Given the description of an element on the screen output the (x, y) to click on. 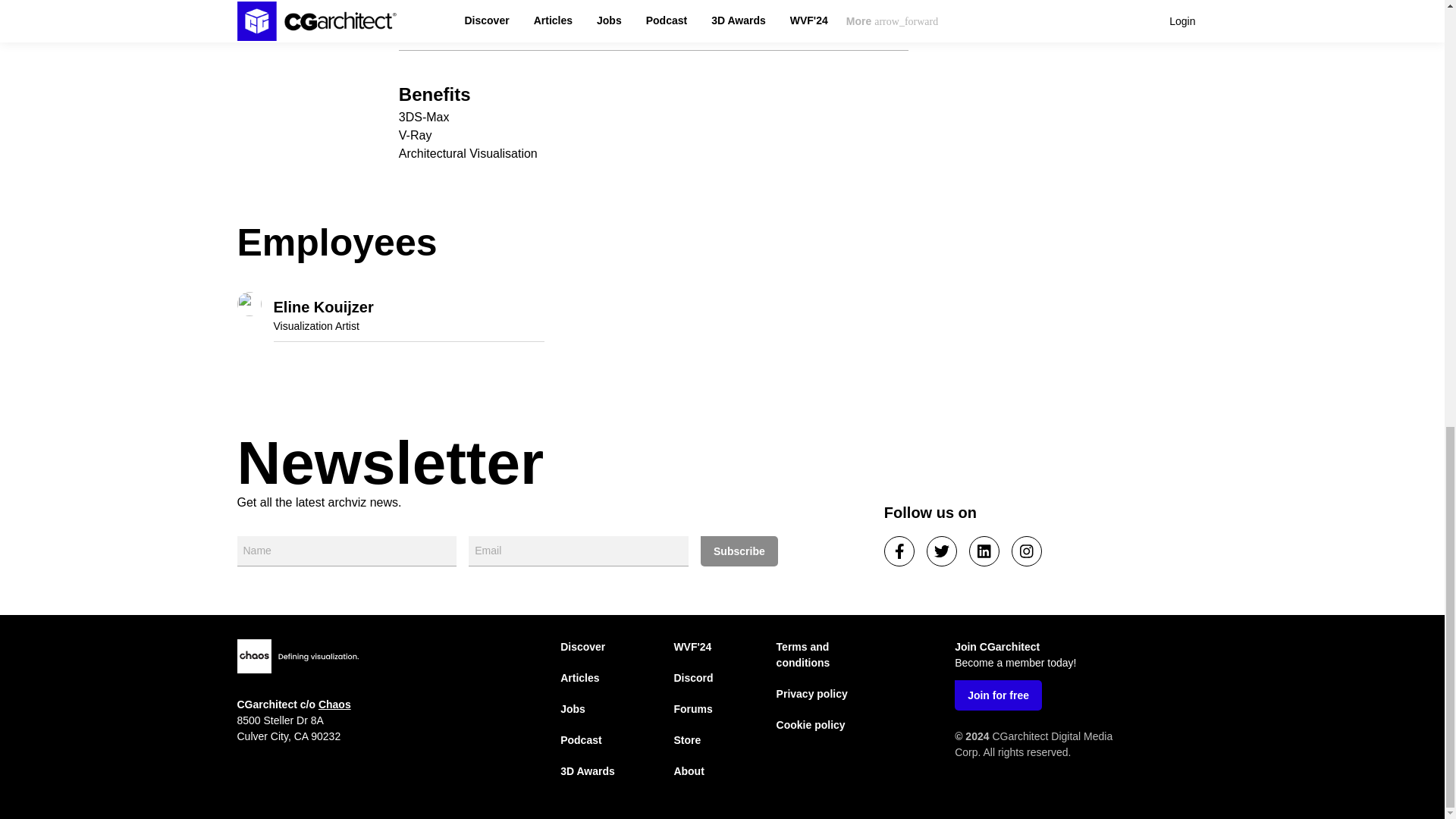
Podcast (580, 739)
Subscribe (738, 551)
Twitter (941, 551)
Chaos (334, 704)
Articles (579, 677)
3D Awards (587, 770)
Terms and conditions (802, 654)
Instagram (1026, 551)
Jobs (572, 708)
Facebook (898, 551)
